Given the description of an element on the screen output the (x, y) to click on. 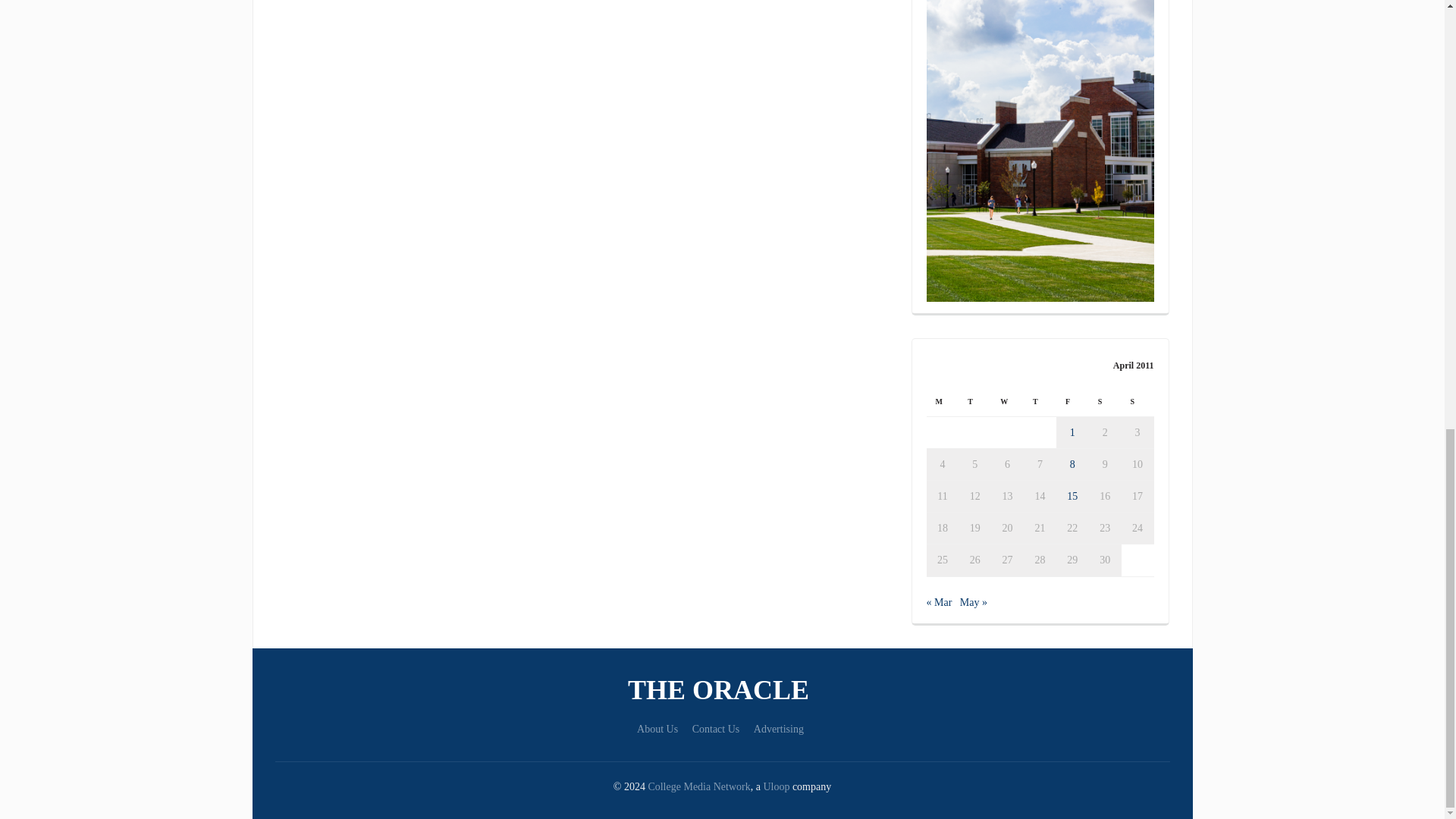
Saturday (1105, 400)
Thursday (1040, 400)
Advertising (778, 728)
Wednesday (1007, 400)
15 (1072, 496)
Uloop (775, 786)
About Us (657, 728)
THE ORACLE (721, 689)
Monday (942, 400)
Sunday (1137, 400)
Friday (1073, 400)
College Media Network (698, 786)
Contact Us (716, 728)
Where Golden Eagles Fly For News (721, 689)
Tuesday (974, 400)
